Given the description of an element on the screen output the (x, y) to click on. 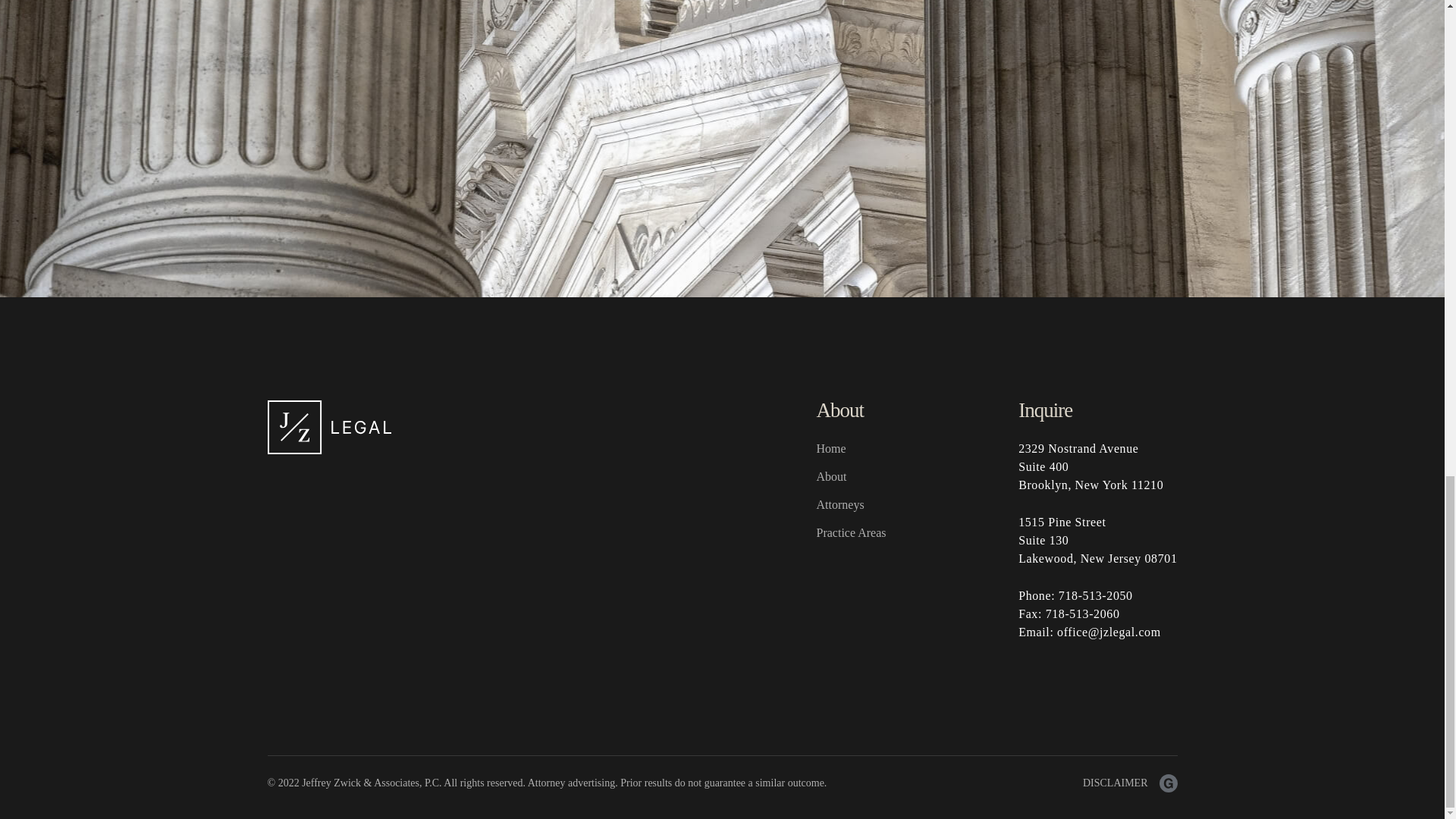
DISCLAIMER (1115, 783)
Attorneys (839, 504)
718-513-2060 (1082, 613)
Home (830, 448)
718-513-2050 (1095, 594)
Practice Areas (850, 532)
About (830, 476)
